Given the description of an element on the screen output the (x, y) to click on. 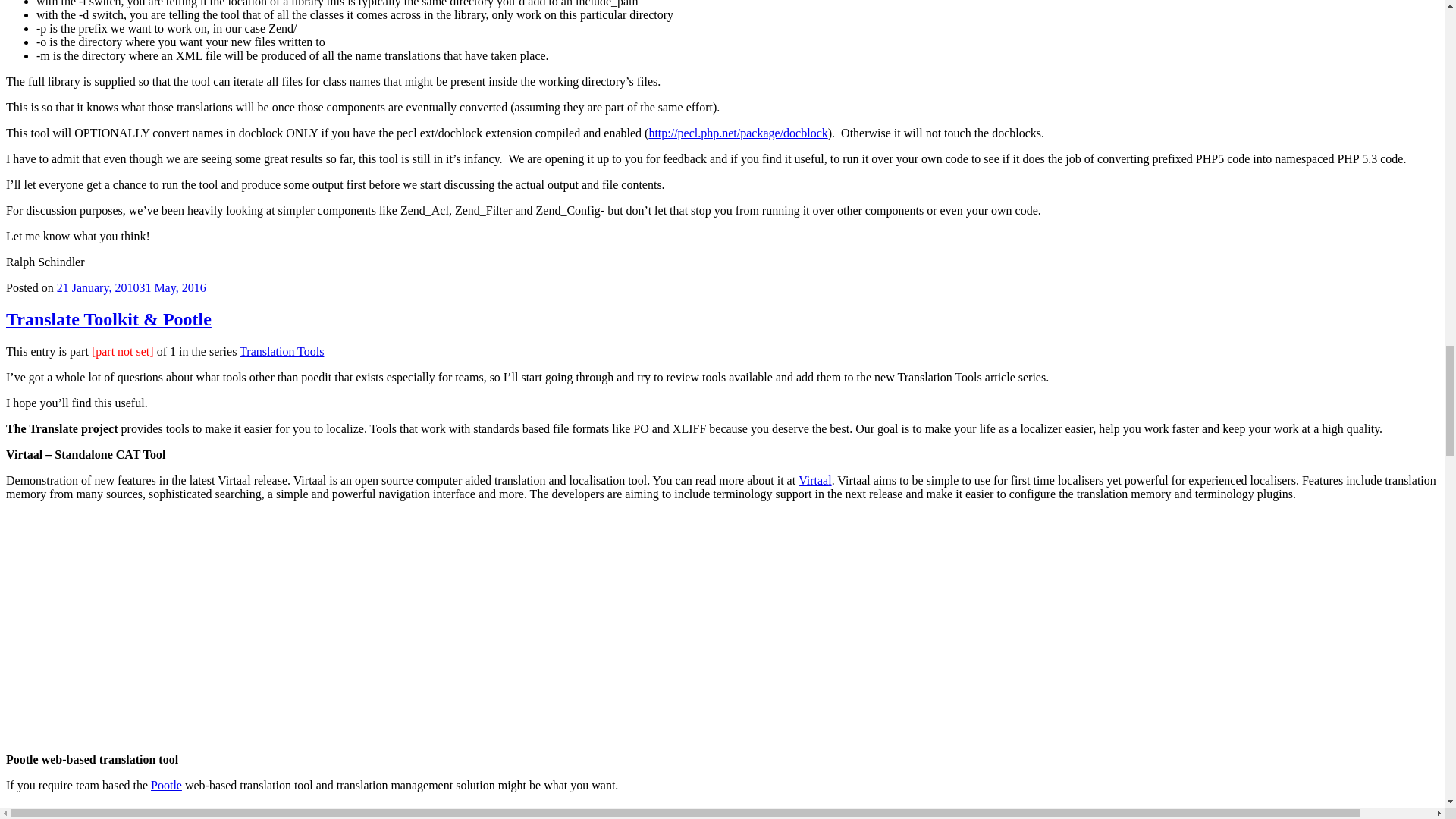
Translation Tools (281, 350)
Pootle (166, 784)
Virtaal (814, 480)
Translation Tools (281, 350)
21 January, 201031 May, 2016 (131, 286)
Virtaal (814, 480)
Pootle (166, 784)
